Given the description of an element on the screen output the (x, y) to click on. 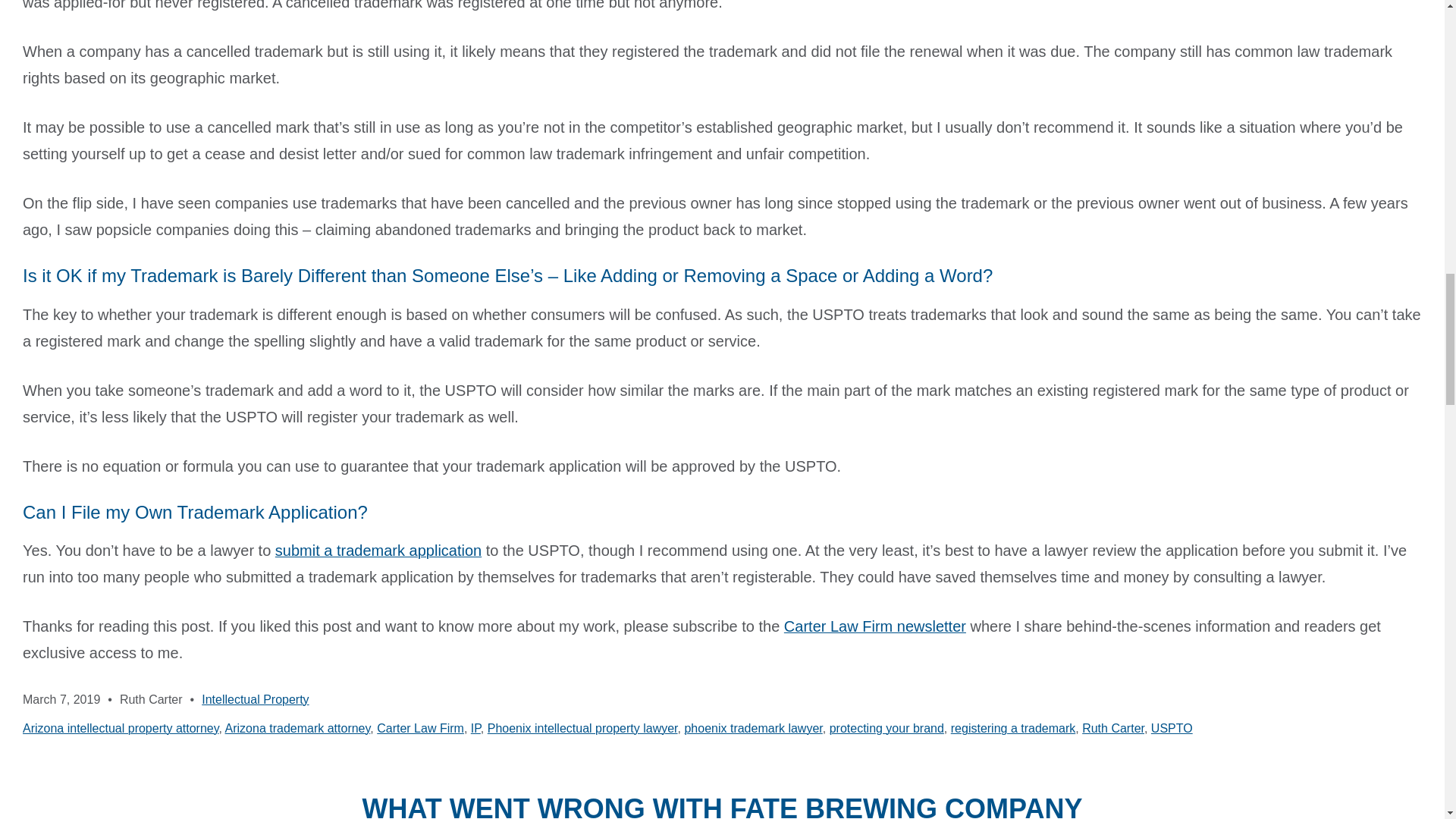
Phoenix intellectual property lawyer (582, 727)
USPTO (1171, 727)
protecting your brand (886, 727)
Arizona intellectual property attorney (121, 727)
registering a trademark (1012, 727)
Carter Law Firm newsletter (875, 626)
submit a trademark application (378, 550)
Carter Law Firm (420, 727)
WHAT WENT WRONG WITH FATE BREWING COMPANY (722, 801)
IP (475, 727)
Ruth Carter (1112, 727)
phoenix trademark lawyer (753, 727)
Arizona trademark attorney (298, 727)
Intellectual Property (255, 698)
